Given the description of an element on the screen output the (x, y) to click on. 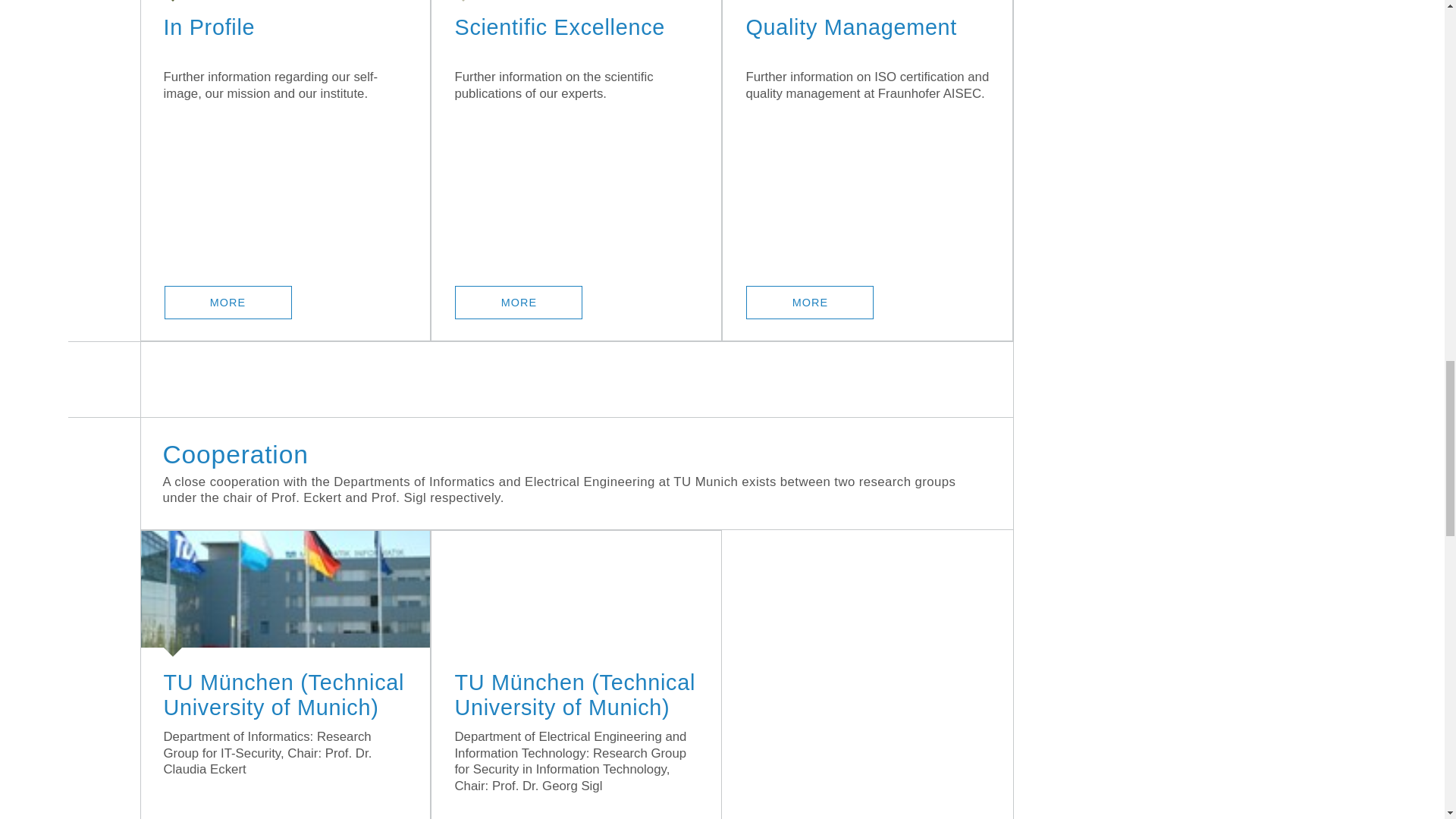
More (809, 302)
More (518, 302)
More (227, 302)
